Given the description of an element on the screen output the (x, y) to click on. 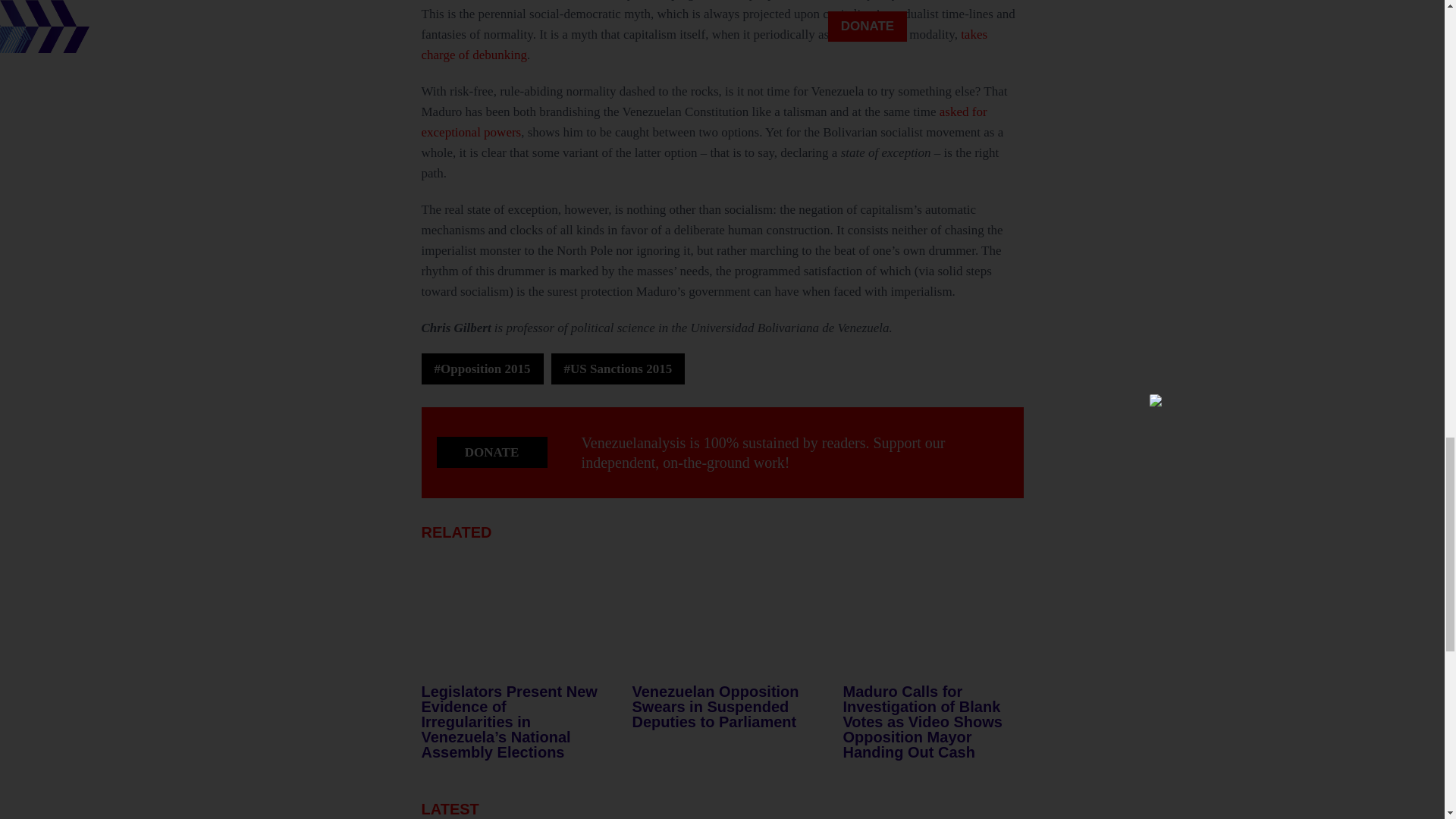
US Sanctions 2015 (618, 368)
takes charge of debunking (705, 44)
asked for exceptional powers (704, 121)
Opposition 2015 (482, 368)
